Given the description of an element on the screen output the (x, y) to click on. 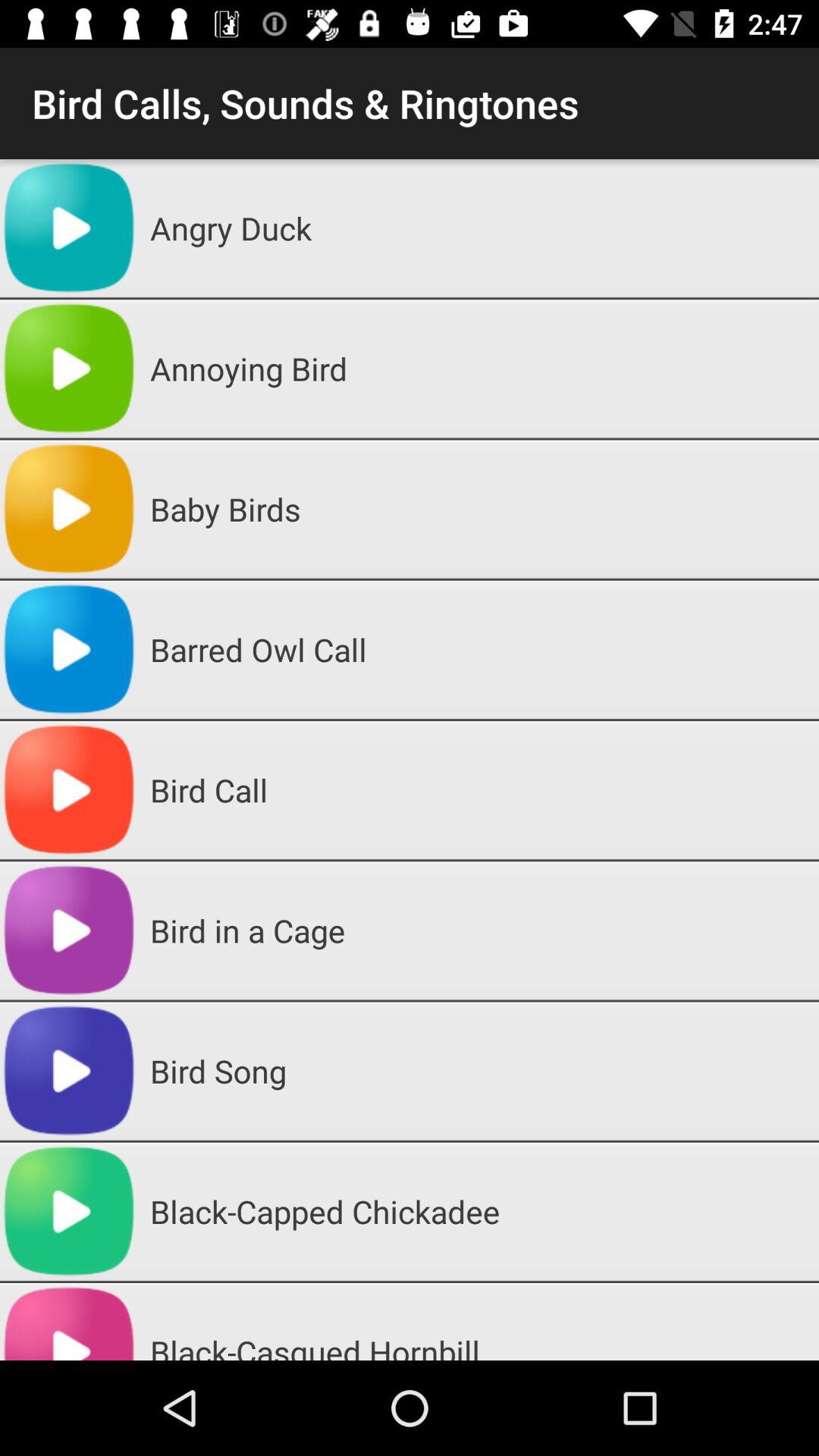
flip to the bird in a (478, 930)
